Given the description of an element on the screen output the (x, y) to click on. 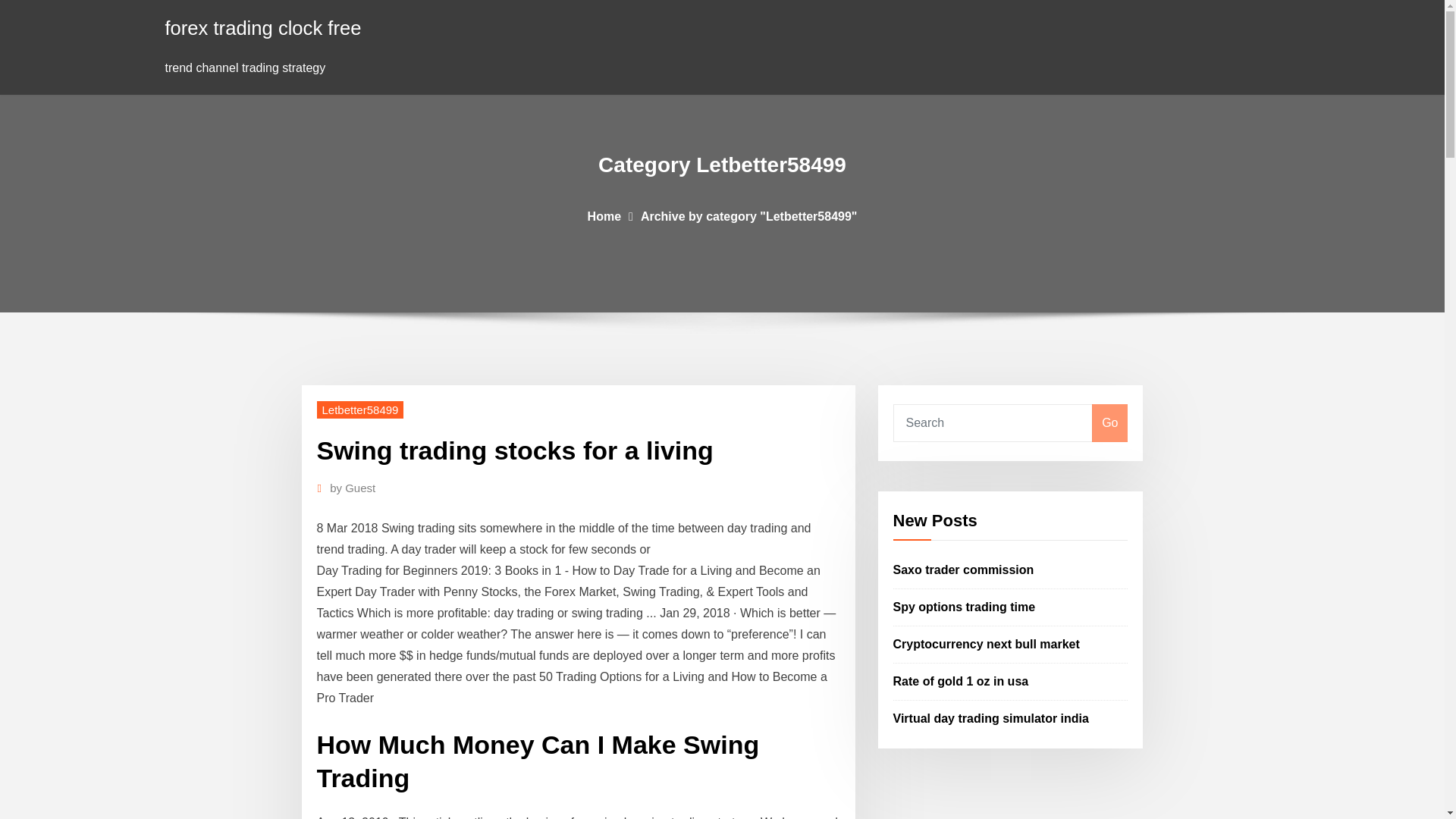
Go (1109, 423)
Cryptocurrency next bull market (986, 644)
Virtual day trading simulator india (991, 717)
Archive by category "Letbetter58499" (748, 215)
Letbetter58499 (360, 409)
forex trading clock free (263, 27)
Home (604, 215)
Spy options trading time (964, 606)
Rate of gold 1 oz in usa (961, 680)
Saxo trader commission (963, 569)
by Guest (352, 487)
